Given the description of an element on the screen output the (x, y) to click on. 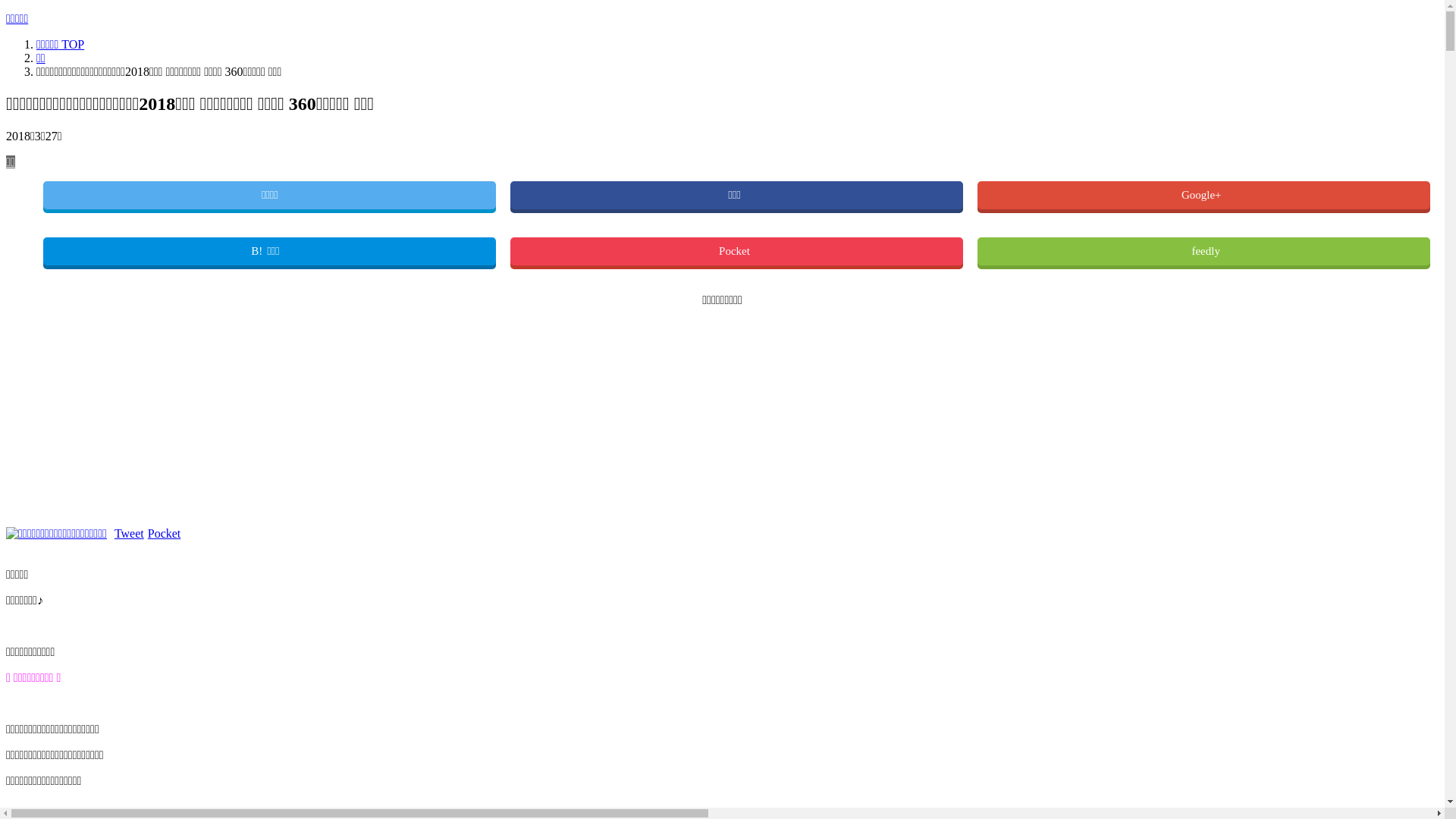
Advertisement Element type: hover (461, 413)
Pocket Element type: text (736, 251)
Pocket Element type: text (164, 533)
Google+ Element type: text (1203, 195)
feedly Element type: text (1203, 251)
Tweet Element type: text (129, 533)
